Given the description of an element on the screen output the (x, y) to click on. 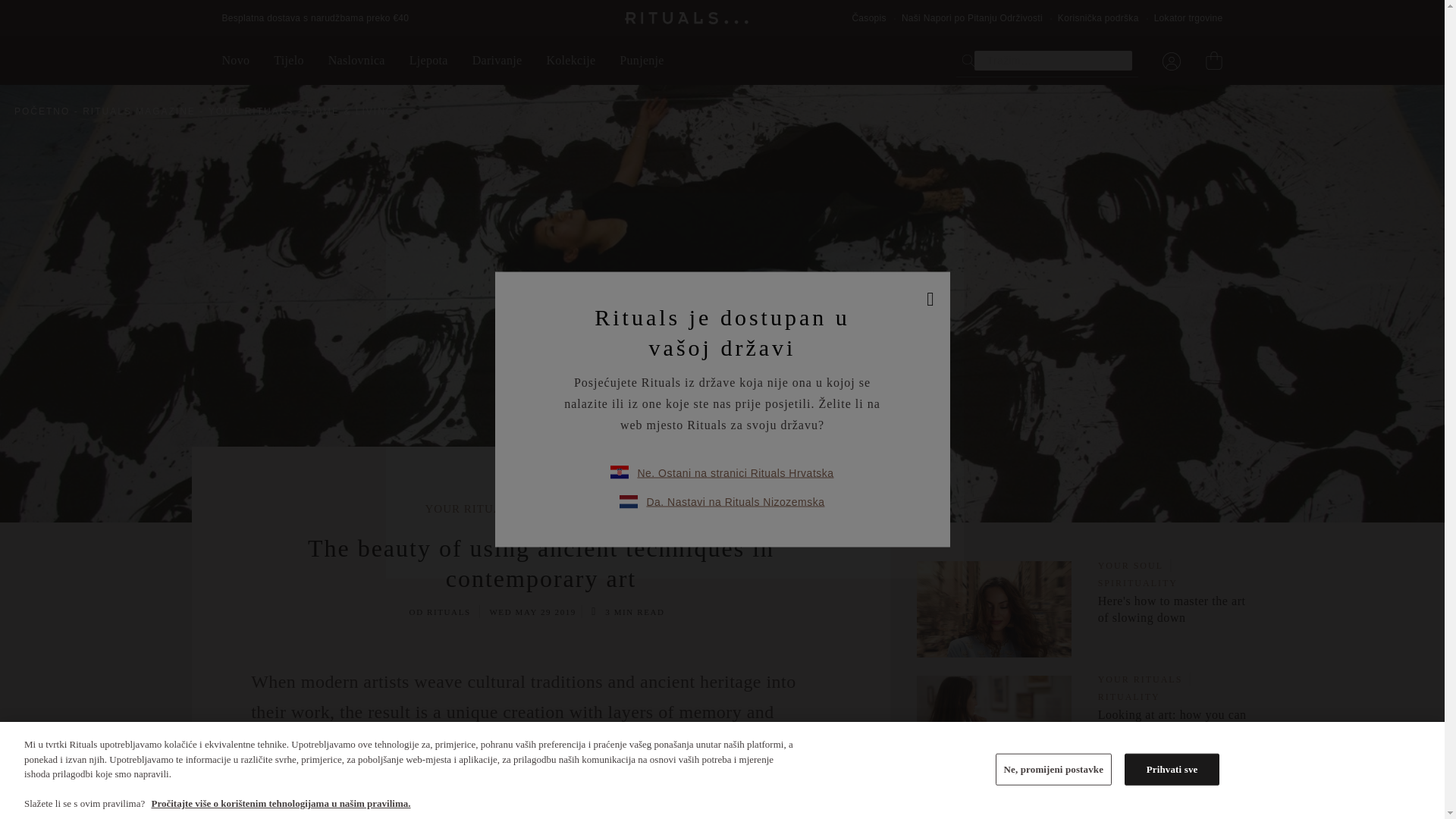
Logotip Rituals (686, 18)
Rituals Magazine (142, 111)
Lokator trgovine (1188, 18)
Your Rituals (255, 111)
